Given the description of an element on the screen output the (x, y) to click on. 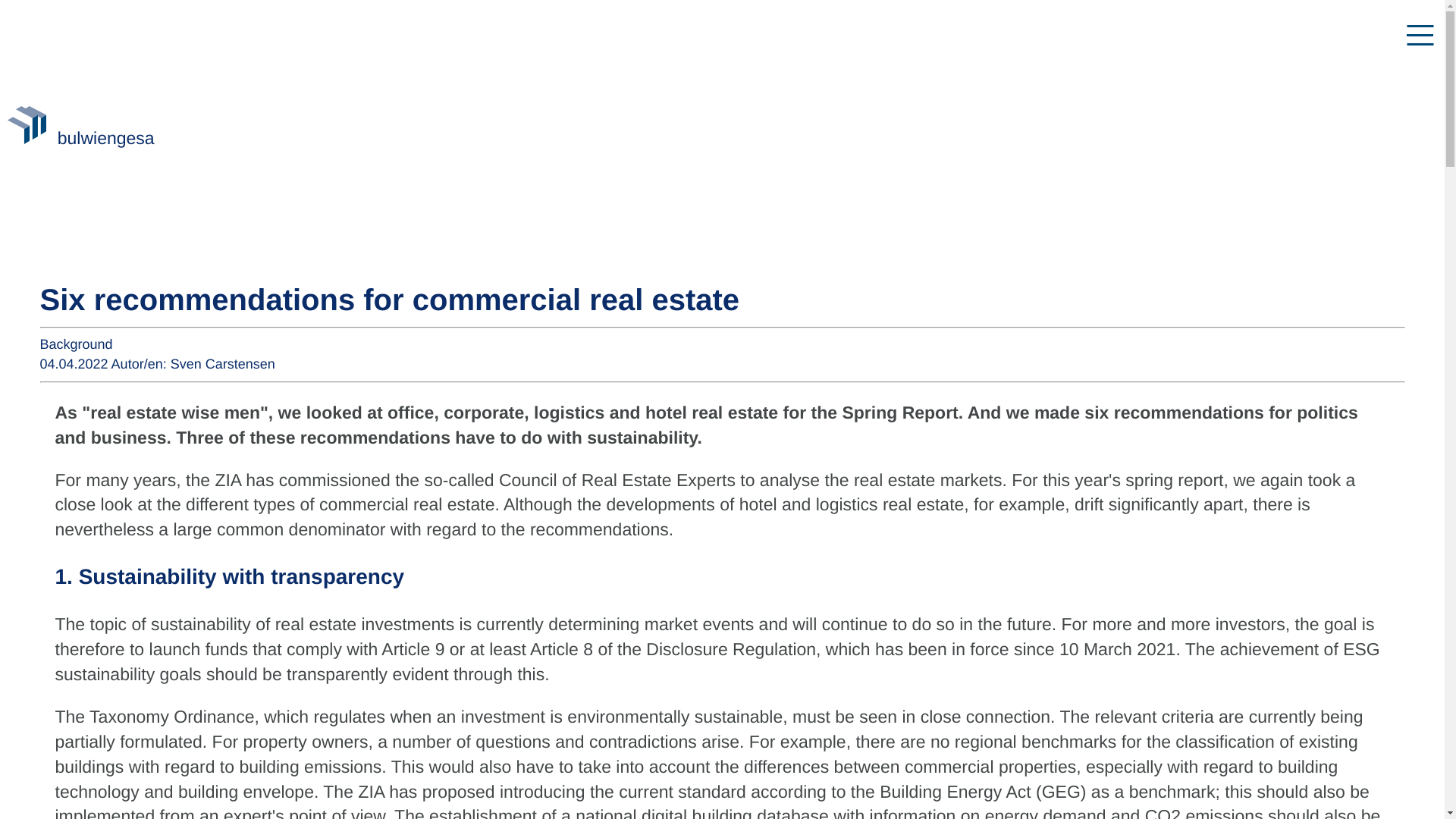
bulwiengesa (106, 137)
Home (28, 137)
Home (106, 137)
